Given the description of an element on the screen output the (x, y) to click on. 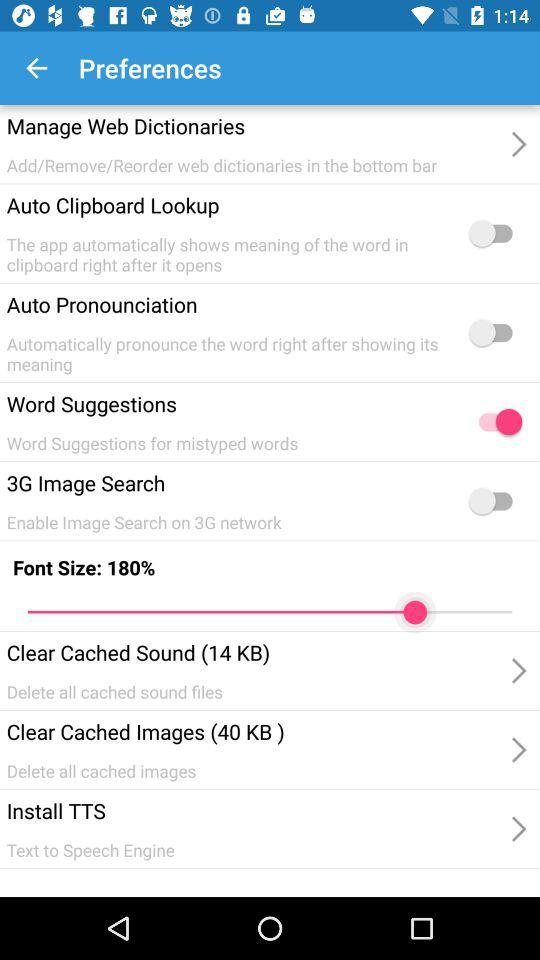
because back devicer (495, 501)
